Given the description of an element on the screen output the (x, y) to click on. 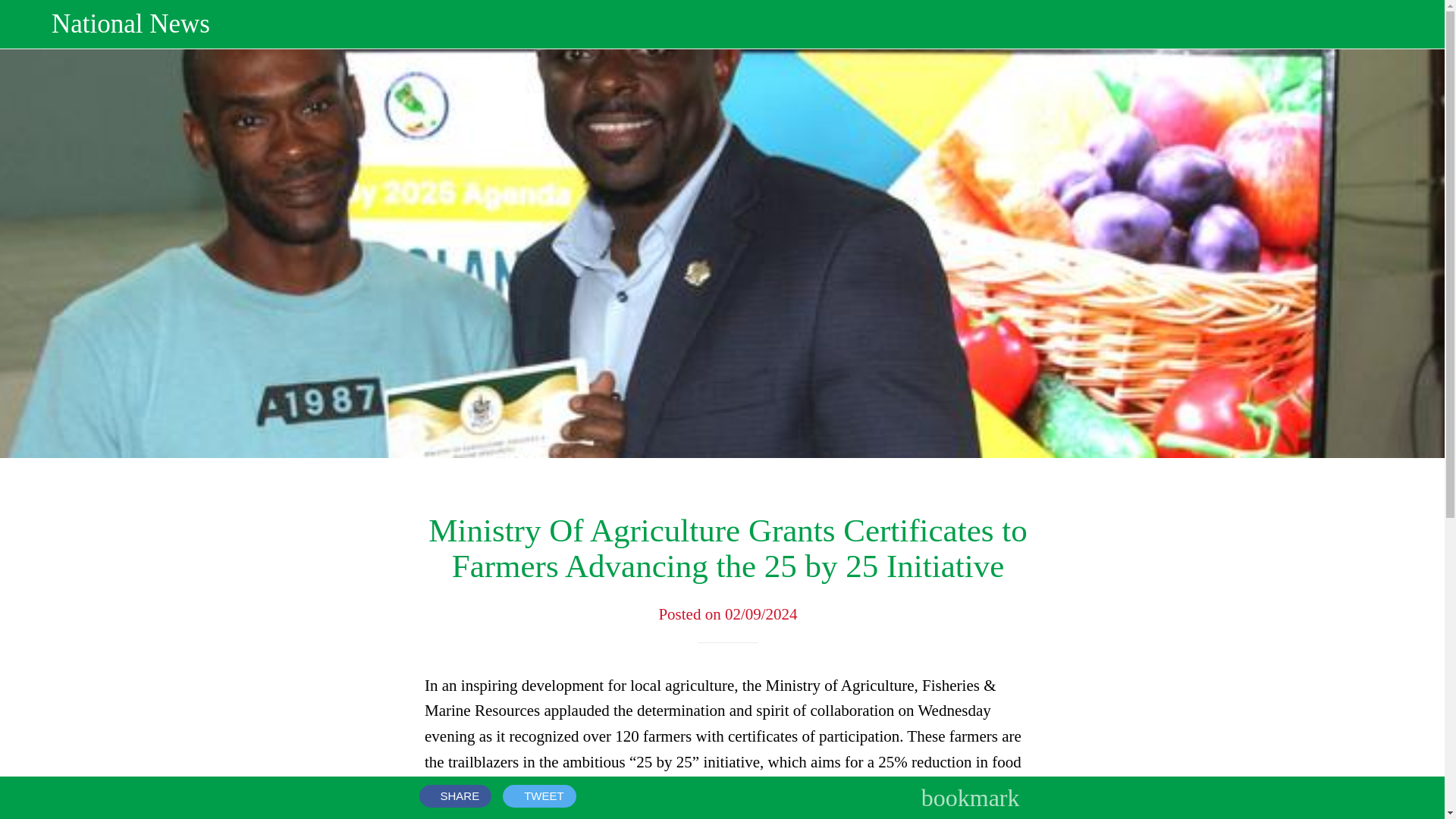
SHARE (455, 794)
National News (741, 24)
TWEET (539, 794)
bookmark (970, 797)
